Given the description of an element on the screen output the (x, y) to click on. 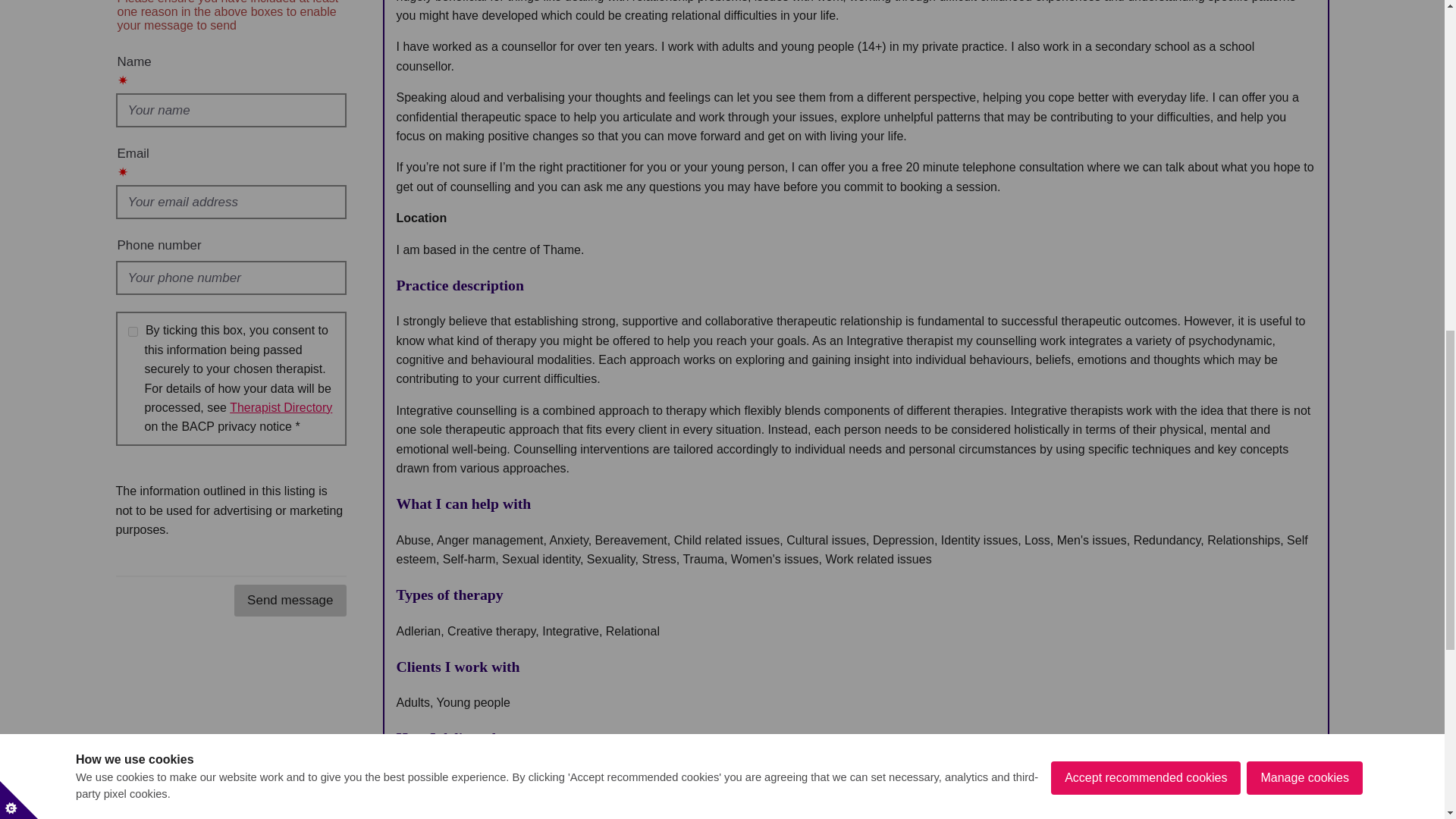
Privacy (280, 407)
true (132, 331)
